Given the description of an element on the screen output the (x, y) to click on. 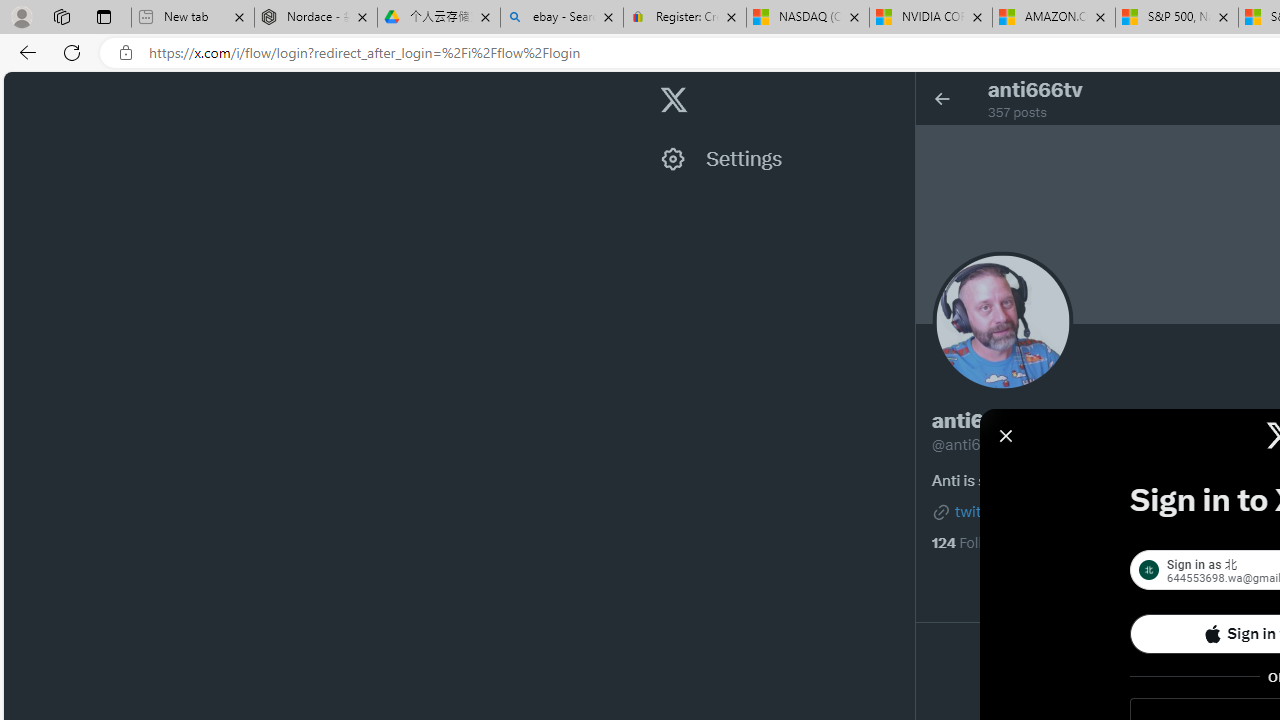
Refresh (72, 52)
